Given the description of an element on the screen output the (x, y) to click on. 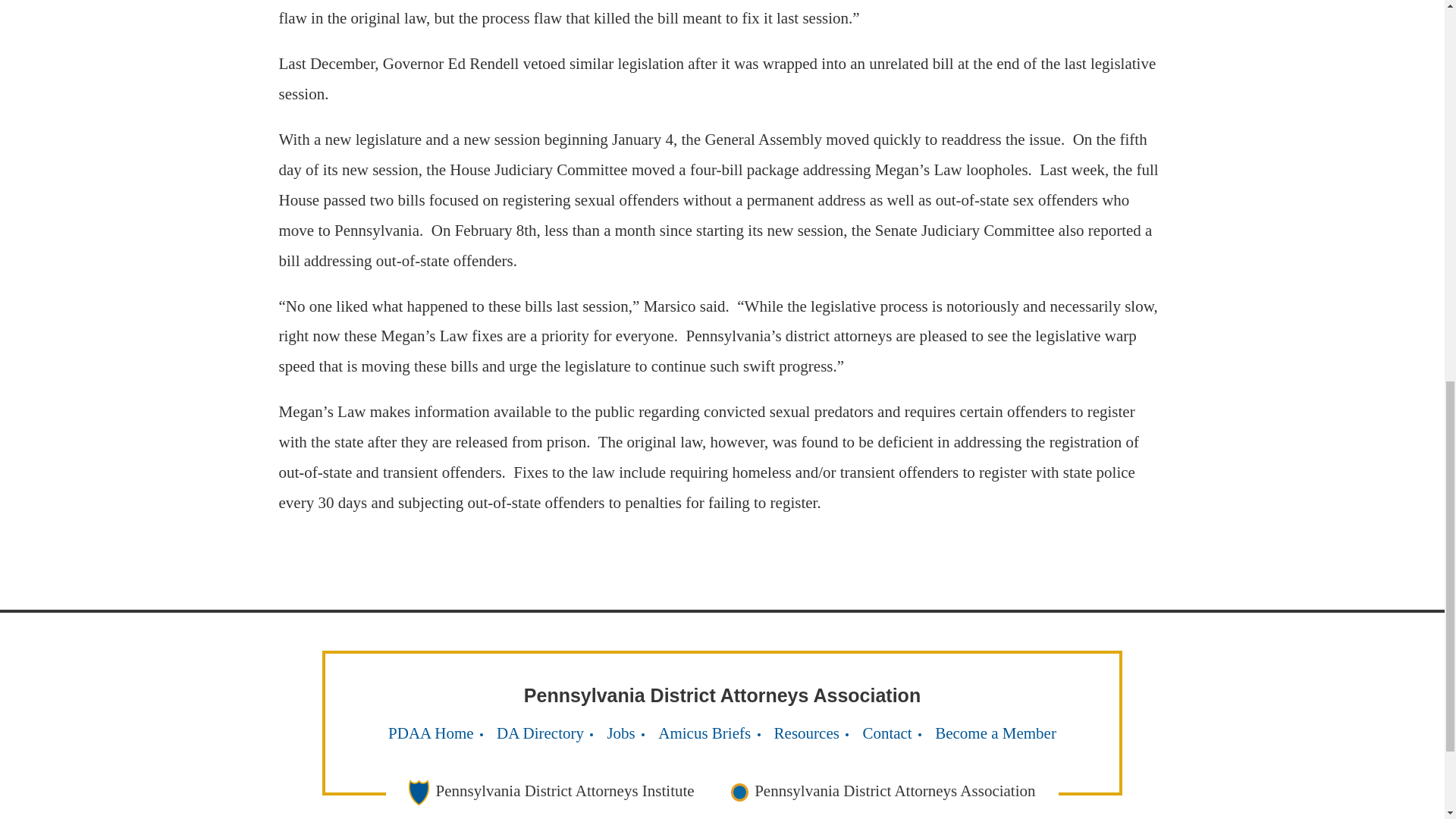
Contact (886, 732)
Jobs (620, 732)
Amicus Briefs (704, 732)
DA Directory (539, 732)
Pennsylvania District Attorneys Institute (551, 791)
PDAA Home (431, 732)
Resources (807, 732)
Pennsylvania District Attorneys Association (881, 791)
Become a Member (995, 732)
